Given the description of an element on the screen output the (x, y) to click on. 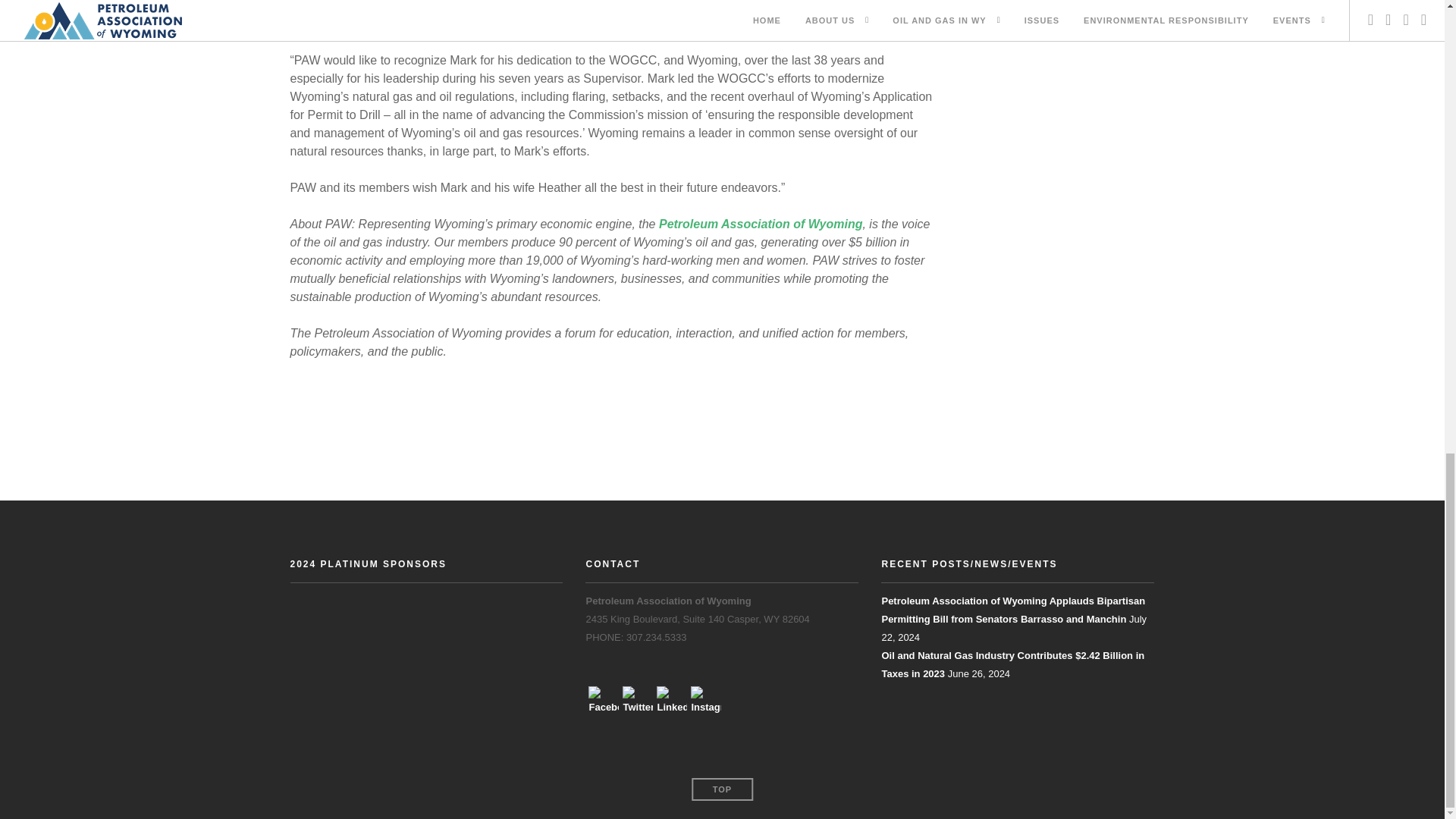
Petroleum Association of Wyoming (760, 223)
